Given the description of an element on the screen output the (x, y) to click on. 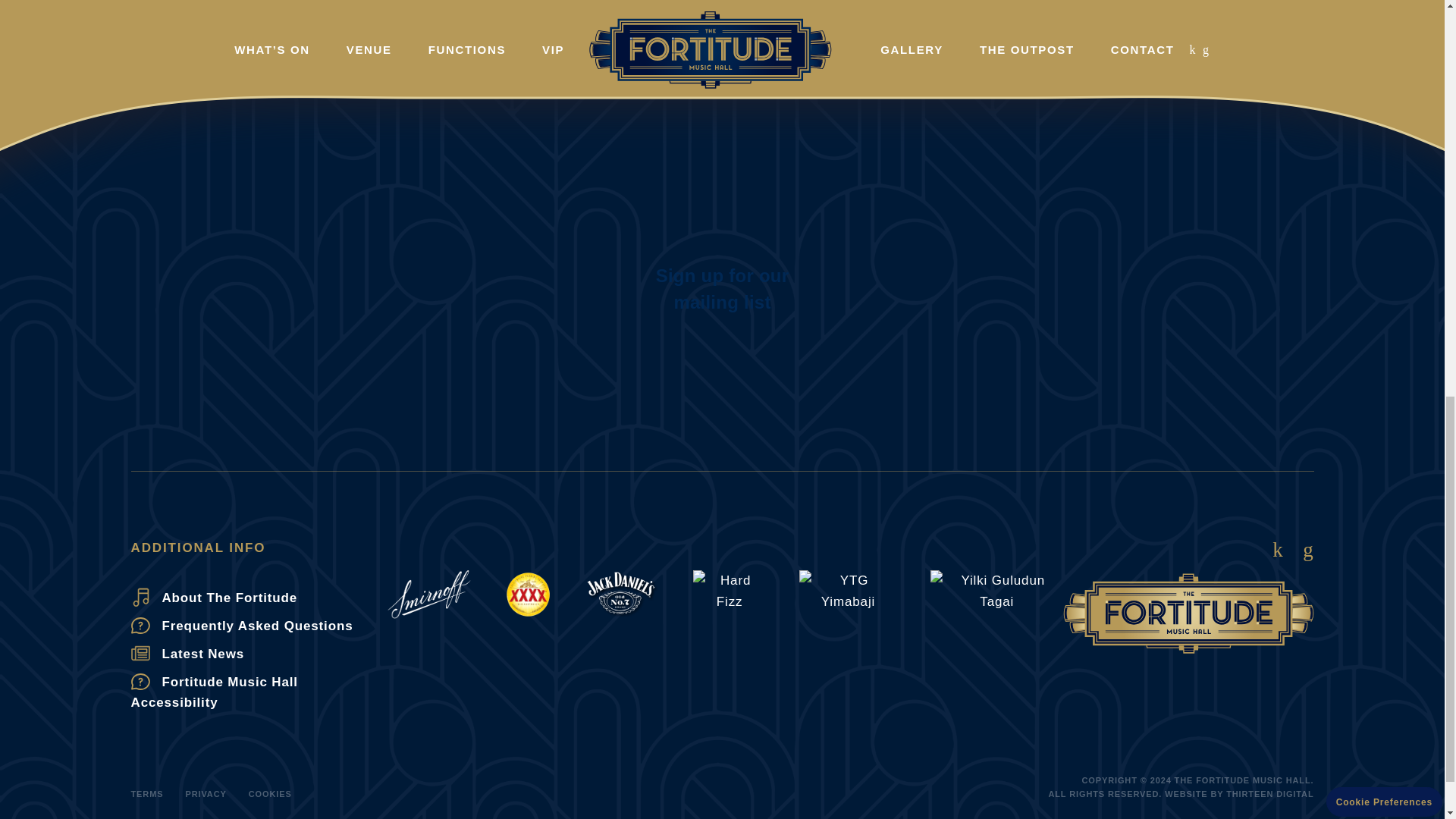
Latest News (259, 653)
Frequently Asked Questions (259, 625)
TERMS (147, 793)
PRIVACY (204, 793)
Fortitude Music Hall Accessibility (259, 691)
COOKIES (270, 793)
About The Fortitude (259, 598)
